Given the description of an element on the screen output the (x, y) to click on. 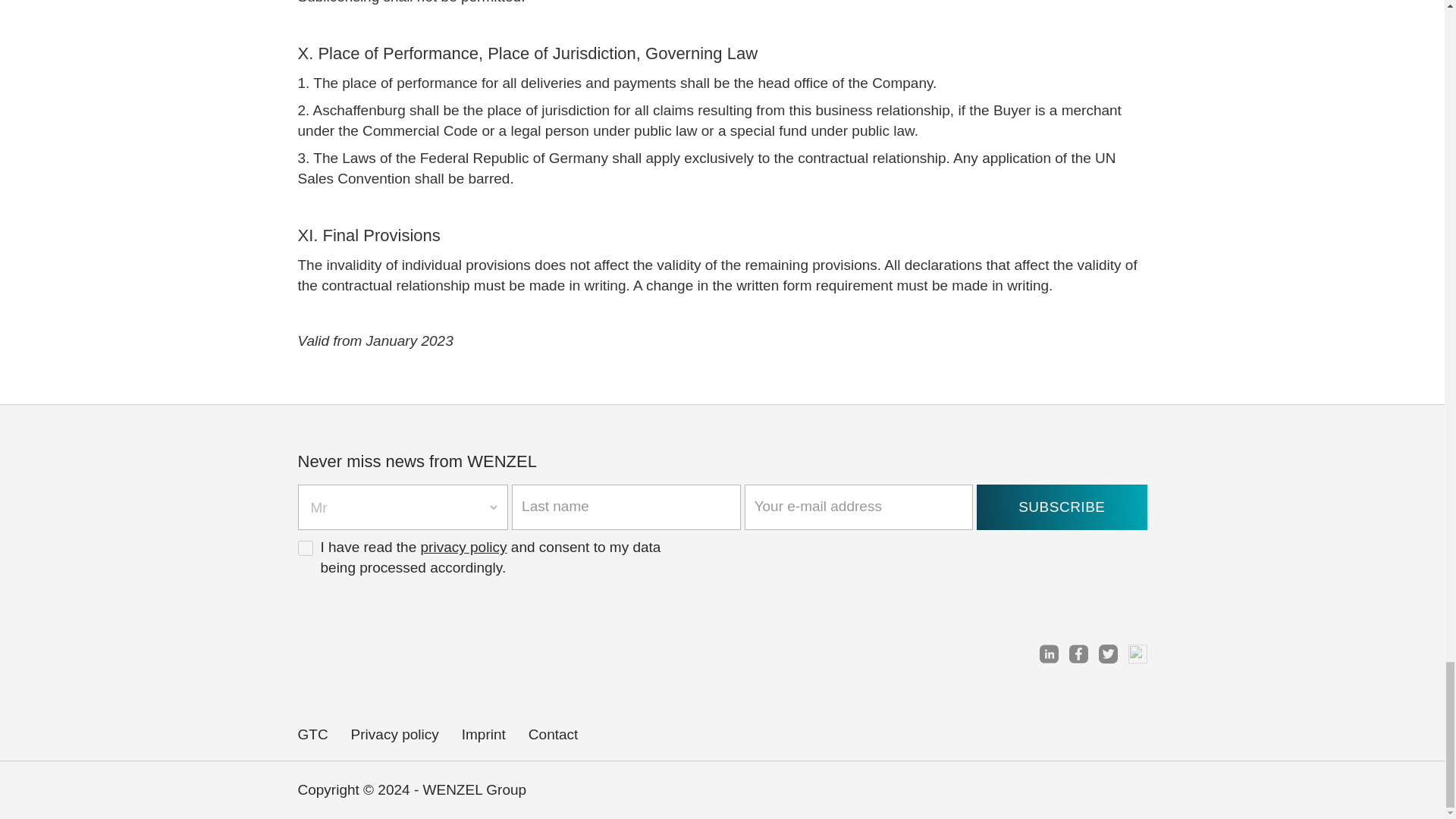
Subscribe (1061, 506)
on (305, 548)
